Given the description of an element on the screen output the (x, y) to click on. 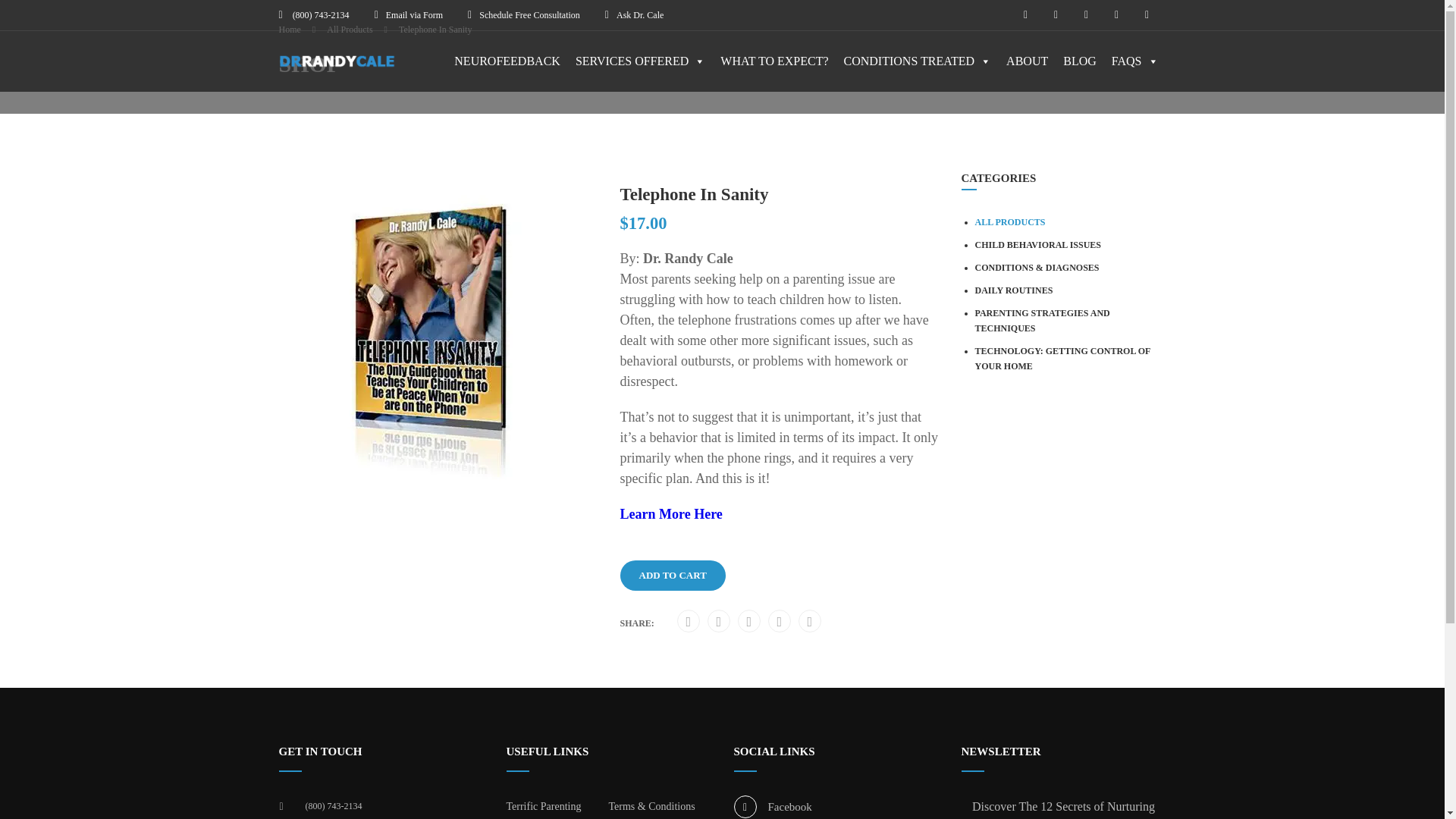
Login (724, 392)
CONDITIONS TREATED (916, 60)
Email via Form (413, 14)
Ask Dr. Cale (639, 14)
SERVICES OFFERED (640, 60)
NEUROFEEDBACK (506, 60)
WHAT TO EXPECT? (774, 60)
Schedule Free Consultation (529, 14)
